Given the description of an element on the screen output the (x, y) to click on. 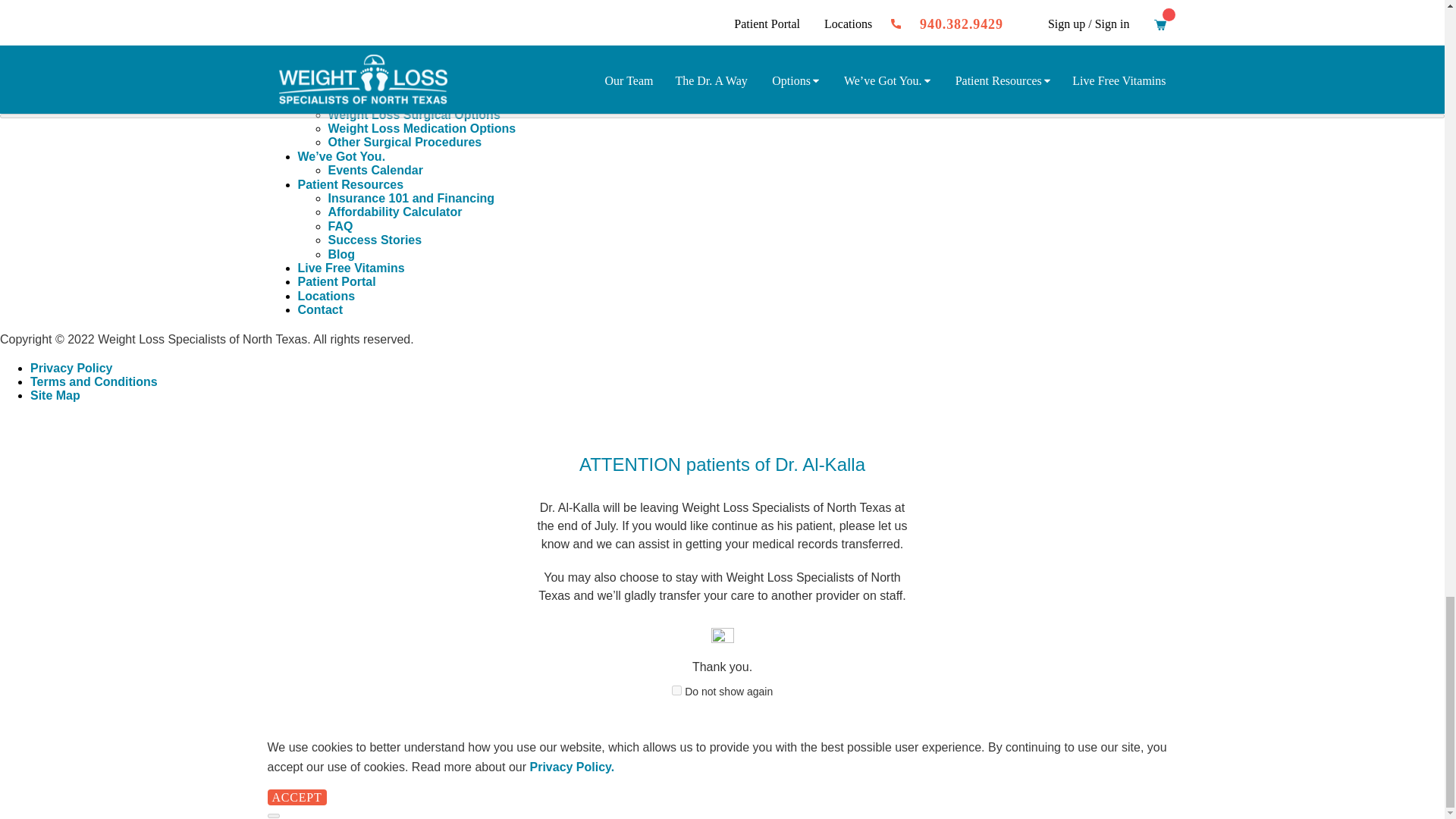
on (676, 690)
Close (272, 816)
